Given the description of an element on the screen output the (x, y) to click on. 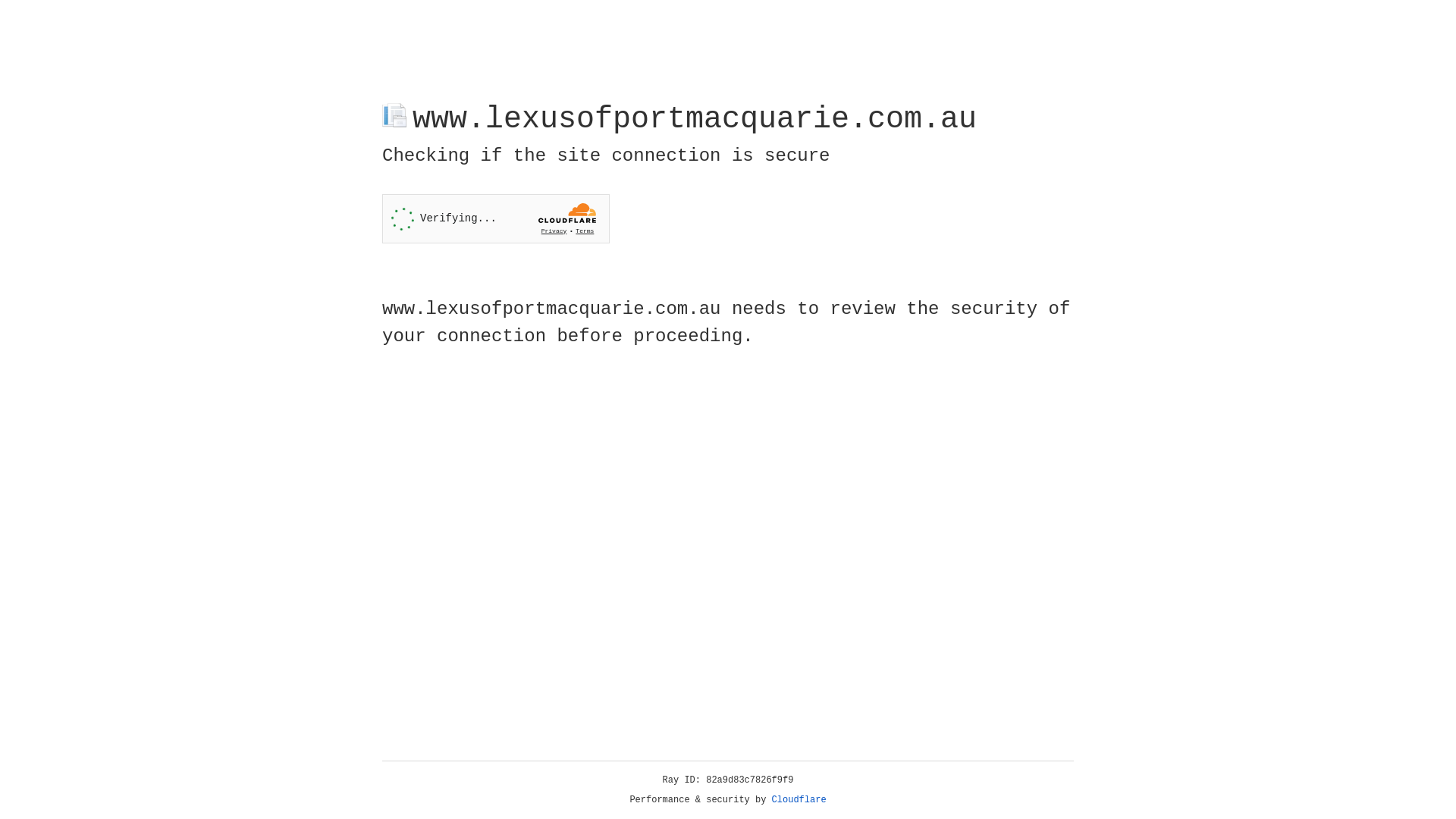
Cloudflare Element type: text (798, 799)
Widget containing a Cloudflare security challenge Element type: hover (495, 218)
